Given the description of an element on the screen output the (x, y) to click on. 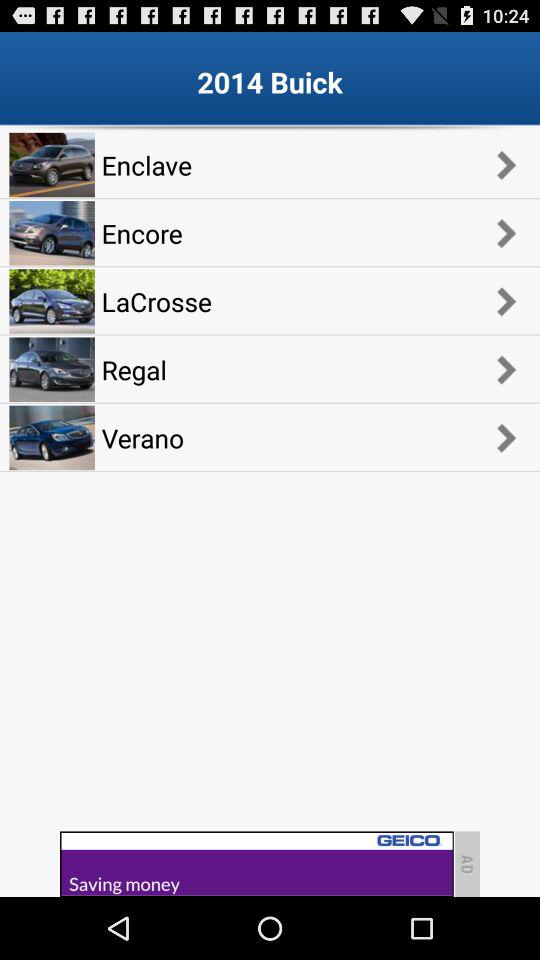
advertisement (256, 864)
